Given the description of an element on the screen output the (x, y) to click on. 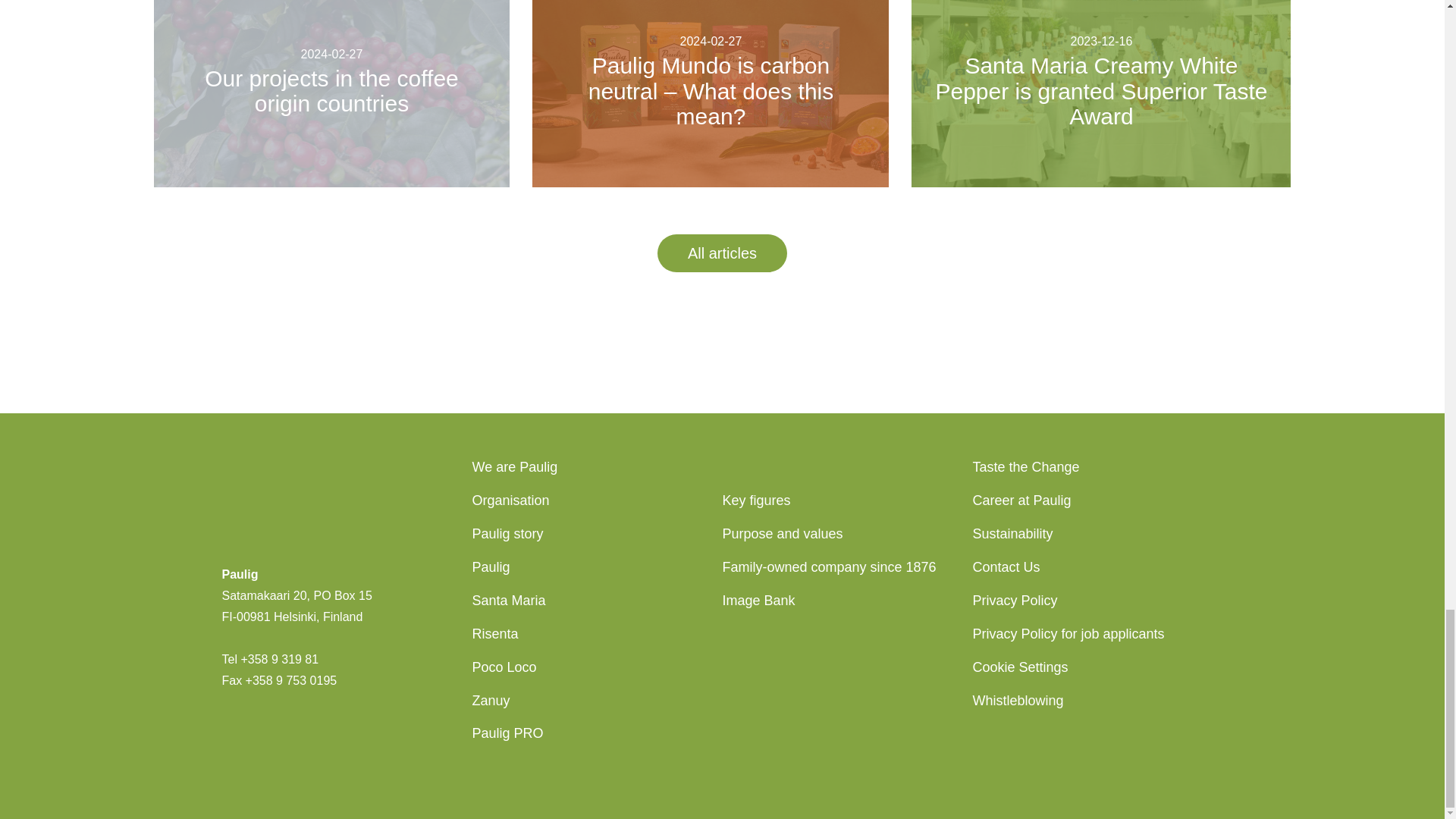
Whistleblowing (1017, 700)
Image Bank (758, 600)
Risenta (494, 633)
